Given the description of an element on the screen output the (x, y) to click on. 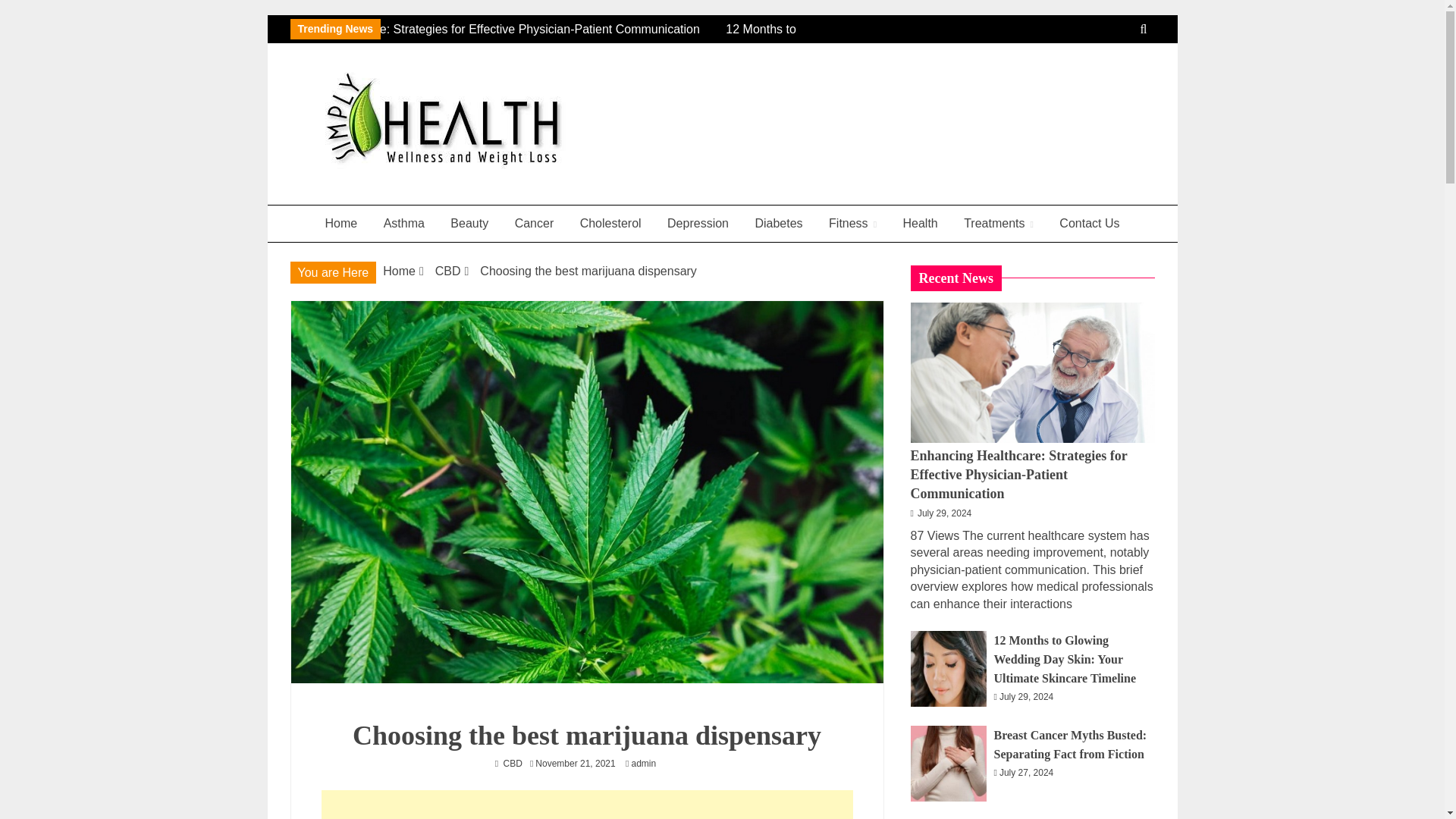
Home (398, 270)
CBD (512, 763)
admin (646, 763)
Cancer (534, 222)
Contact Us (1089, 222)
Depression (697, 222)
Health Blog (382, 197)
Health (920, 222)
Beauty (469, 222)
Diabetes (777, 222)
Cholesterol (610, 222)
CBD (448, 270)
November 21, 2021 (574, 763)
Treatments (998, 222)
